Given the description of an element on the screen output the (x, y) to click on. 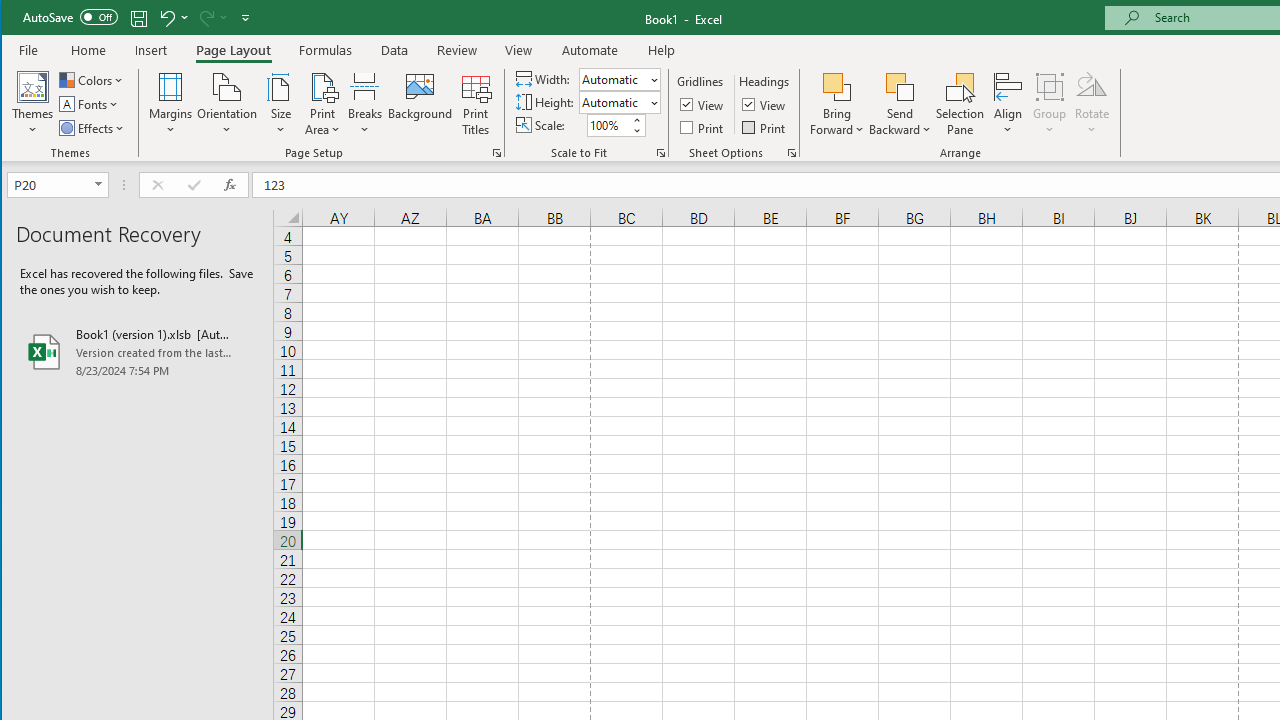
Themes (33, 104)
Orientation (226, 104)
Fonts (90, 103)
Colors (93, 80)
Print Titles (475, 104)
Height (619, 101)
Group (1050, 104)
Size (280, 104)
